Given the description of an element on the screen output the (x, y) to click on. 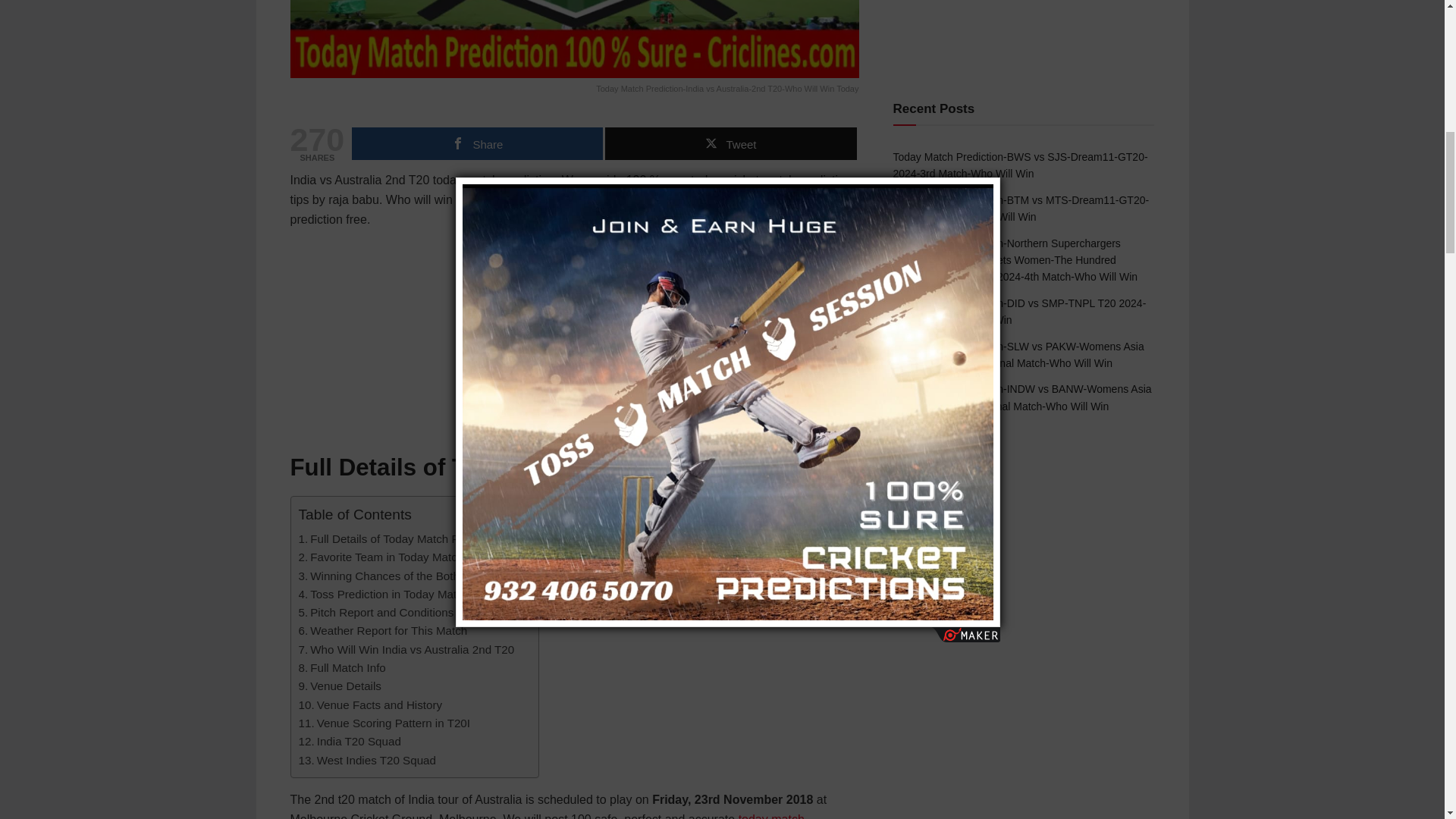
Pitch Report and Conditions (376, 612)
Full Details of Today Match Prediction (400, 538)
Toss Prediction in Today Match Prediction (411, 594)
Weather Report for This Match (382, 630)
Venue Details (339, 686)
Who Will Win India vs Australia 2nd T20 (406, 649)
Favorite Team in Today Match Prediction (408, 556)
Full Match Info (341, 668)
Venue Facts and History (370, 705)
Winning Chances of the Both Sides (395, 576)
